Given the description of an element on the screen output the (x, y) to click on. 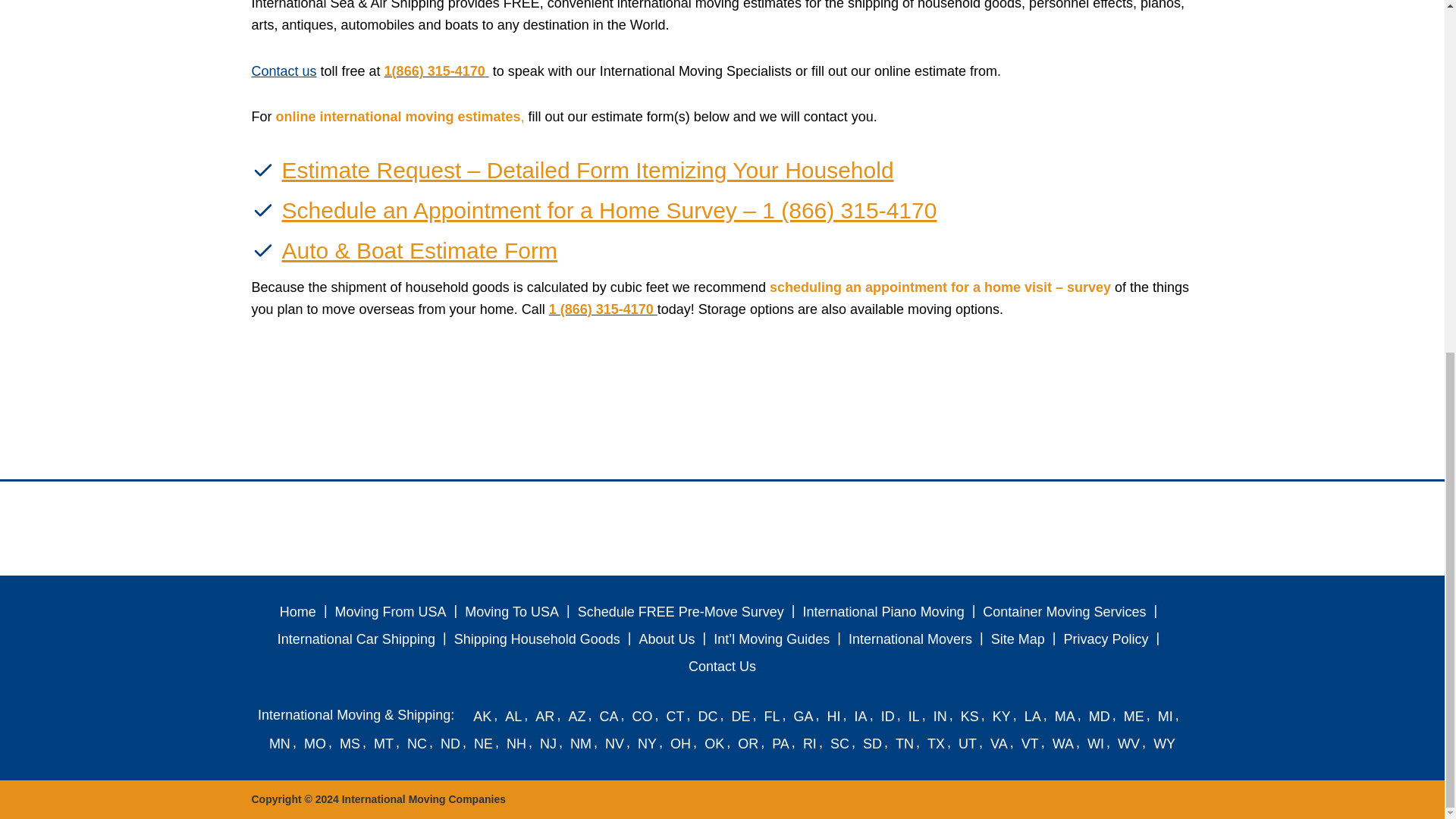
Contact (274, 70)
us (307, 70)
